Given the description of an element on the screen output the (x, y) to click on. 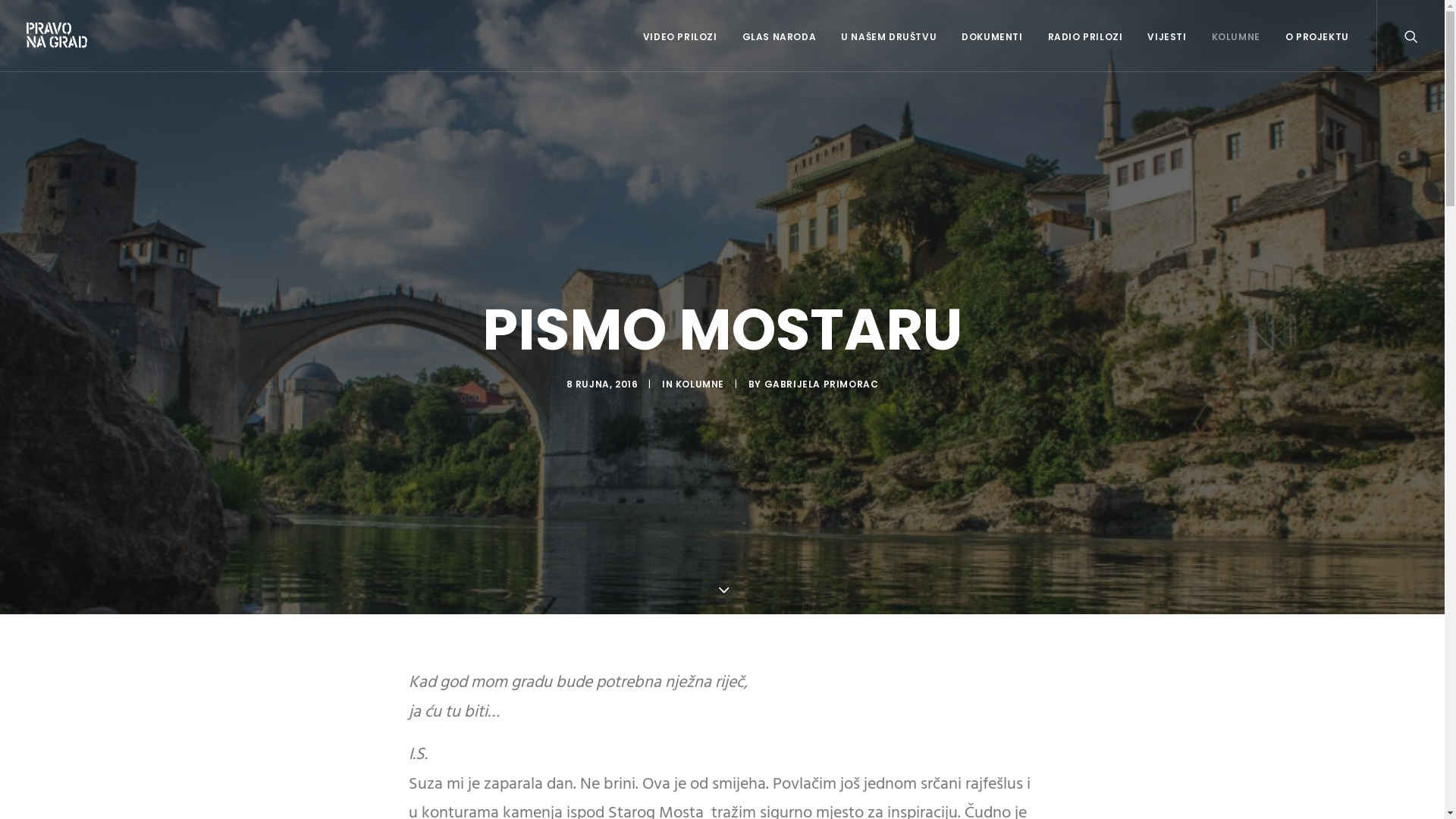
VIJESTI Element type: text (1166, 35)
GABRIJELA PRIMORAC Element type: text (821, 383)
VIDEO PRILOZI Element type: text (680, 35)
RADIO PRILOZI Element type: text (1085, 35)
GLAS NARODA Element type: text (779, 35)
KOLUMNE Element type: text (699, 383)
DOKUMENTI Element type: text (991, 35)
KOLUMNE Element type: text (1235, 35)
O PROJEKTU Element type: text (1311, 35)
